Given the description of an element on the screen output the (x, y) to click on. 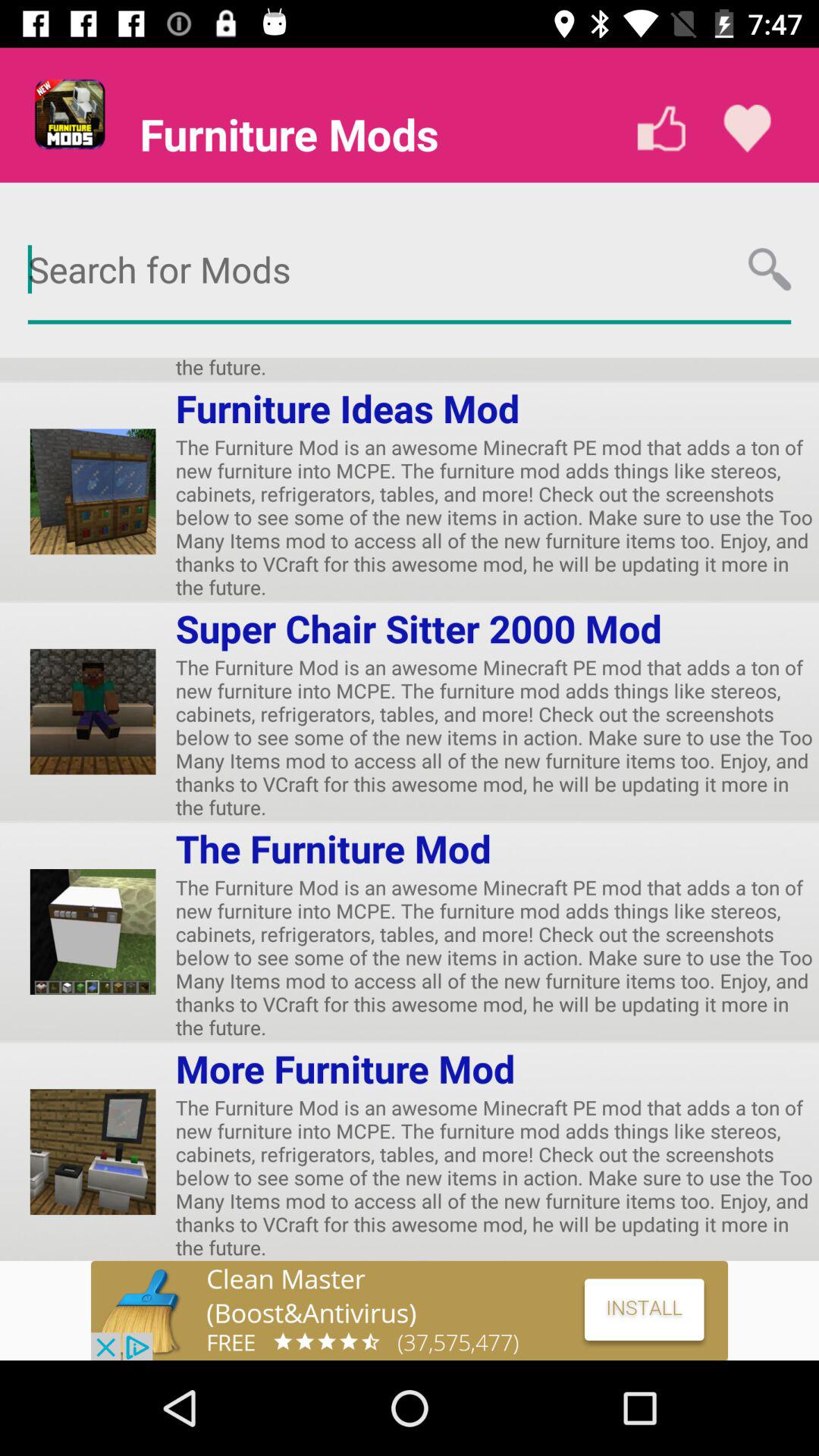
select the first image at the left side of the page (93, 491)
click the last image at the left bottom of the site (93, 1151)
click on the like icon at top right corner of the page (747, 128)
